Given the description of an element on the screen output the (x, y) to click on. 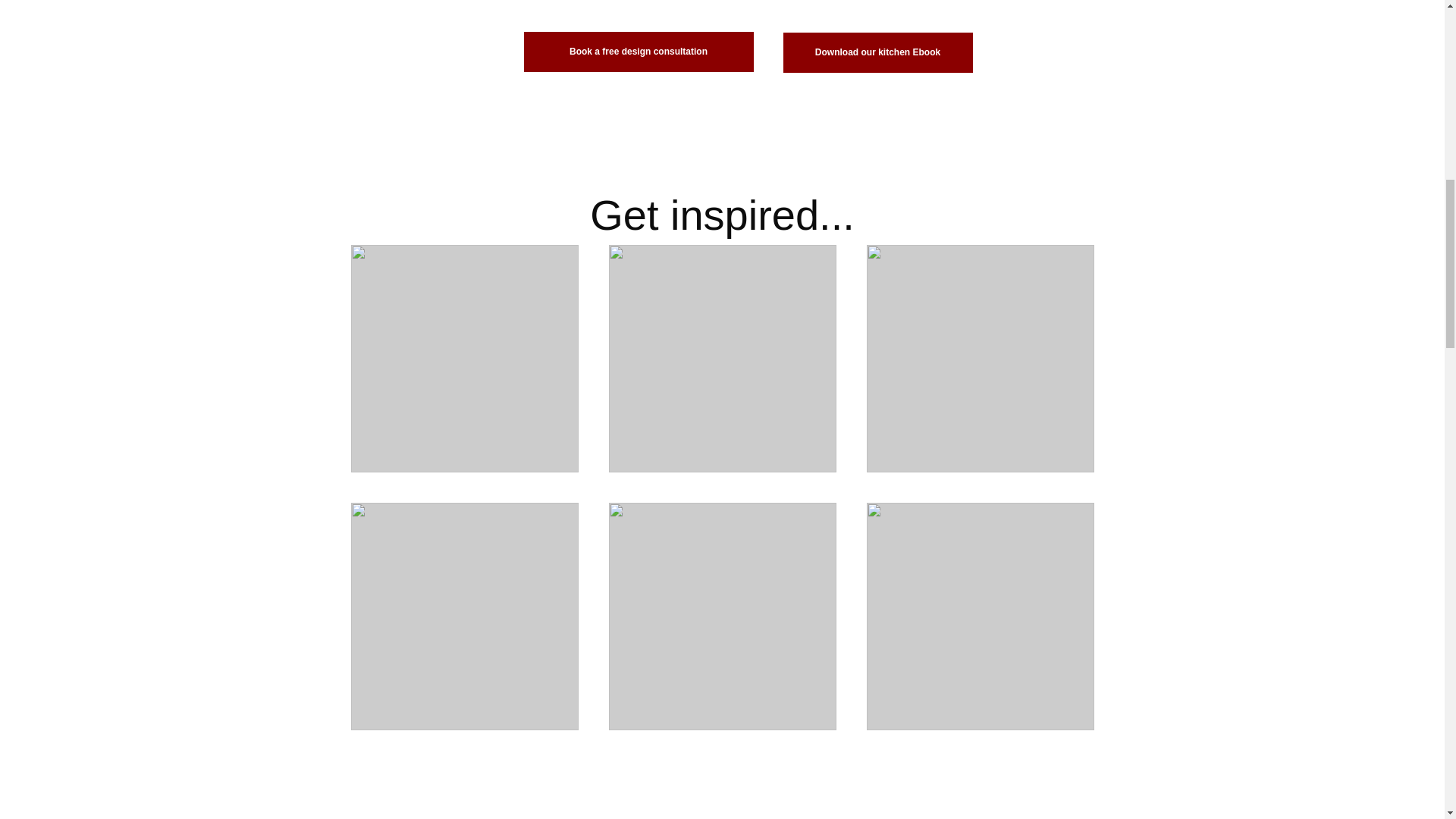
Download our kitchen Ebook (877, 52)
Book a free design consultation (637, 51)
